Given the description of an element on the screen output the (x, y) to click on. 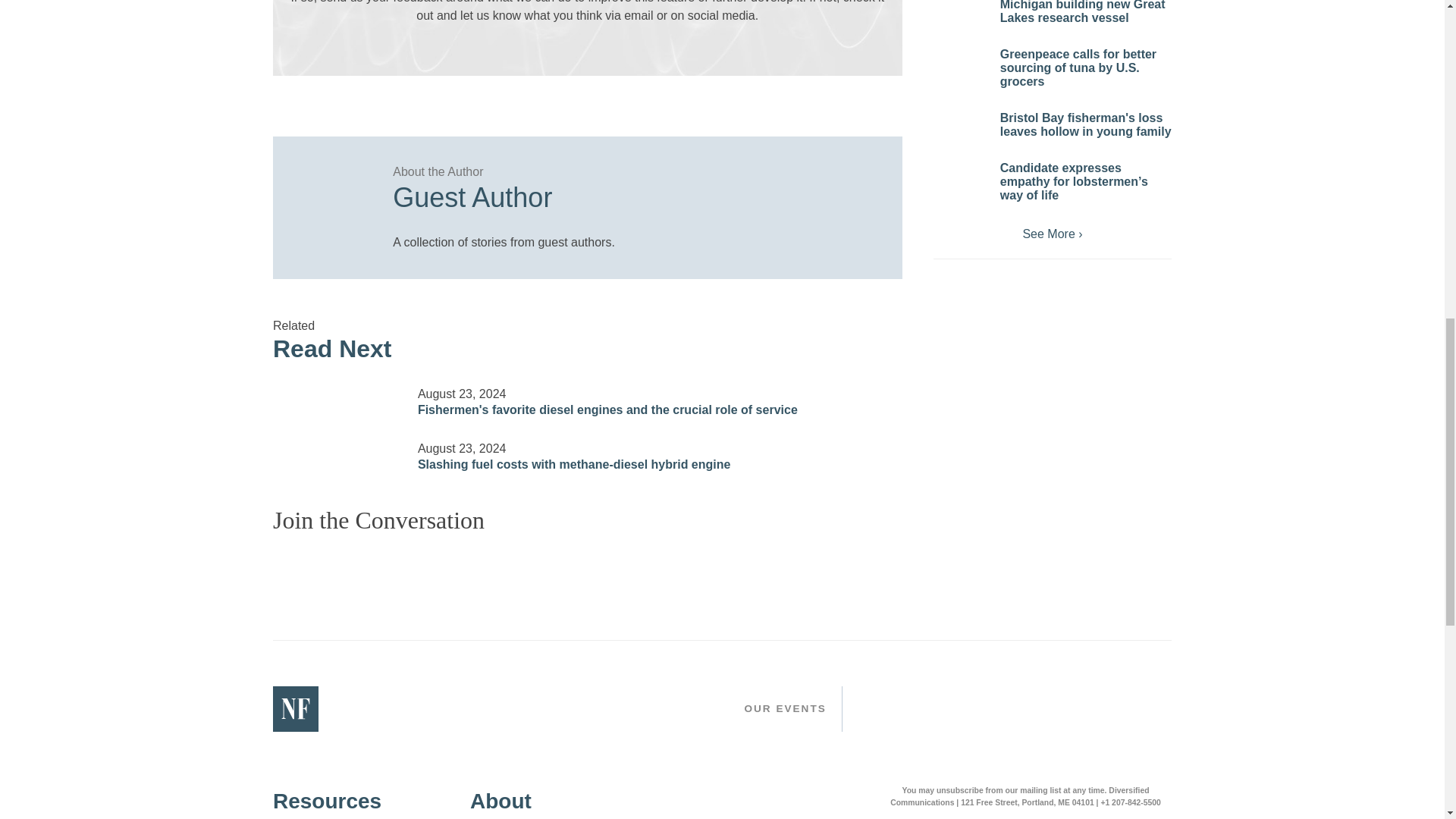
Connect with us on LinkedIn (596, 46)
Email Us (578, 46)
Guest Author (631, 193)
Slashing fuel costs with methane-diesel hybrid engine (335, 447)
Guest Author (325, 189)
